Given the description of an element on the screen output the (x, y) to click on. 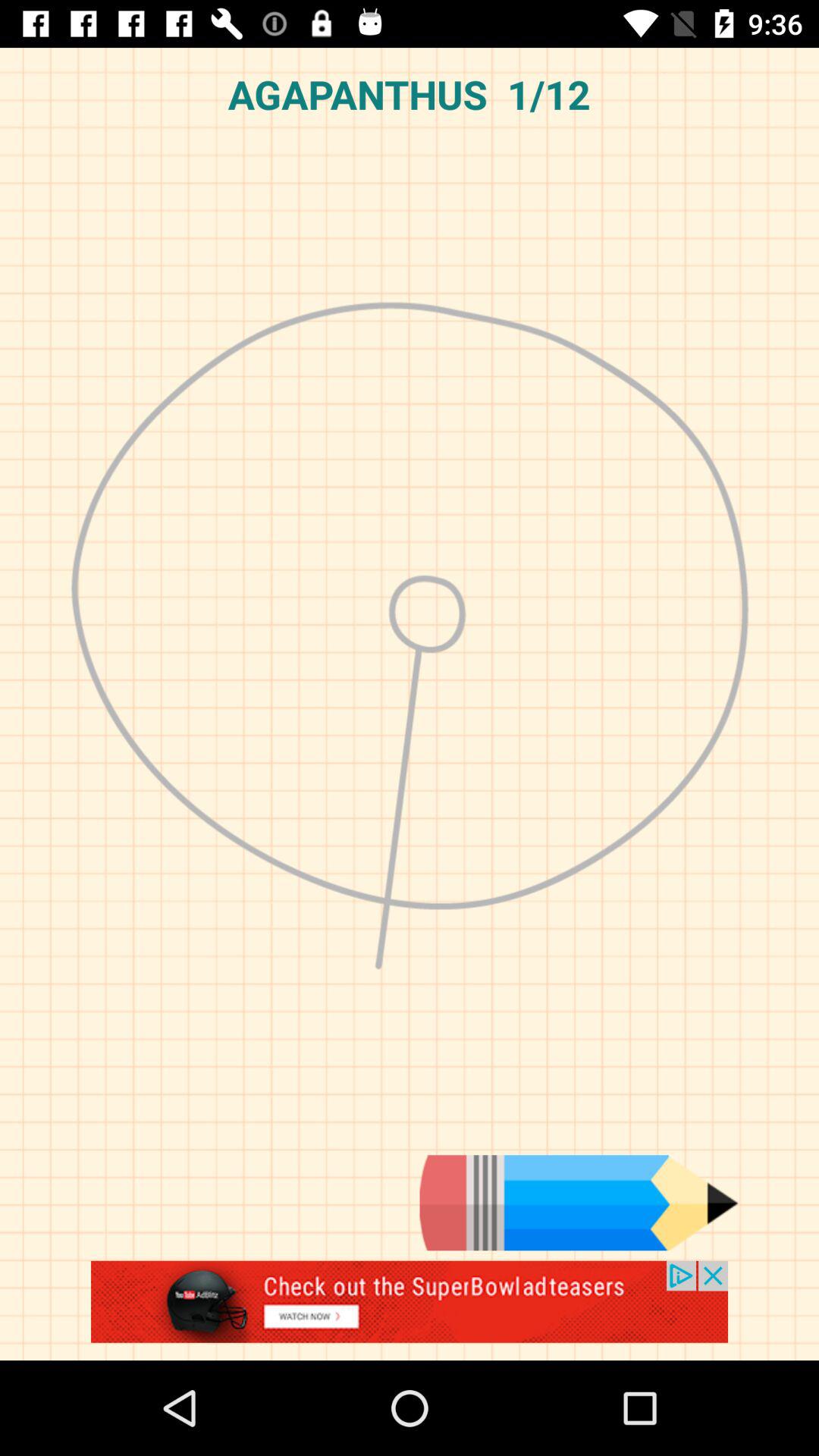
advertisement display (409, 1310)
